Given the description of an element on the screen output the (x, y) to click on. 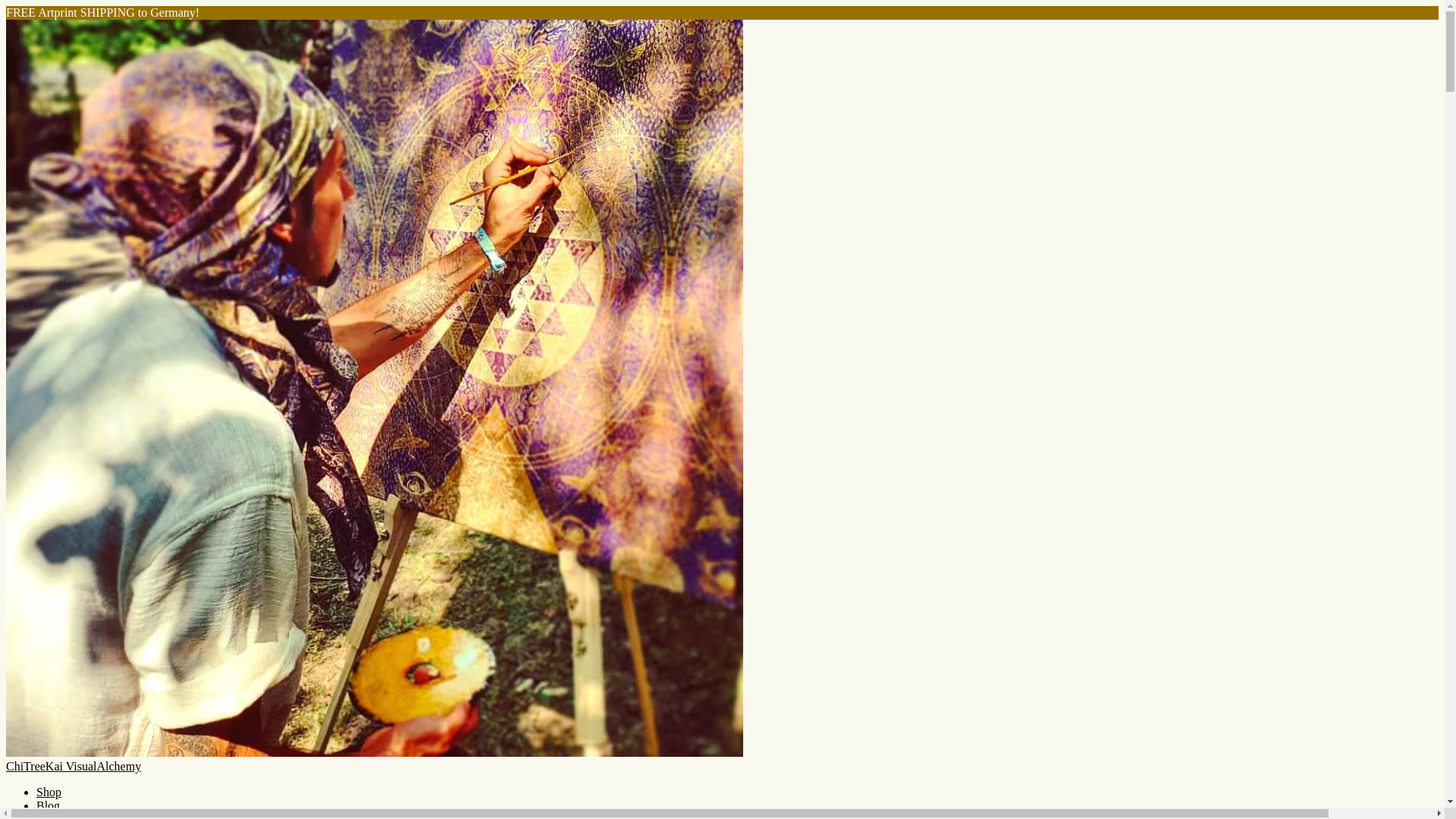
Blog (47, 805)
Shop (48, 791)
Collections (63, 816)
